Given the description of an element on the screen output the (x, y) to click on. 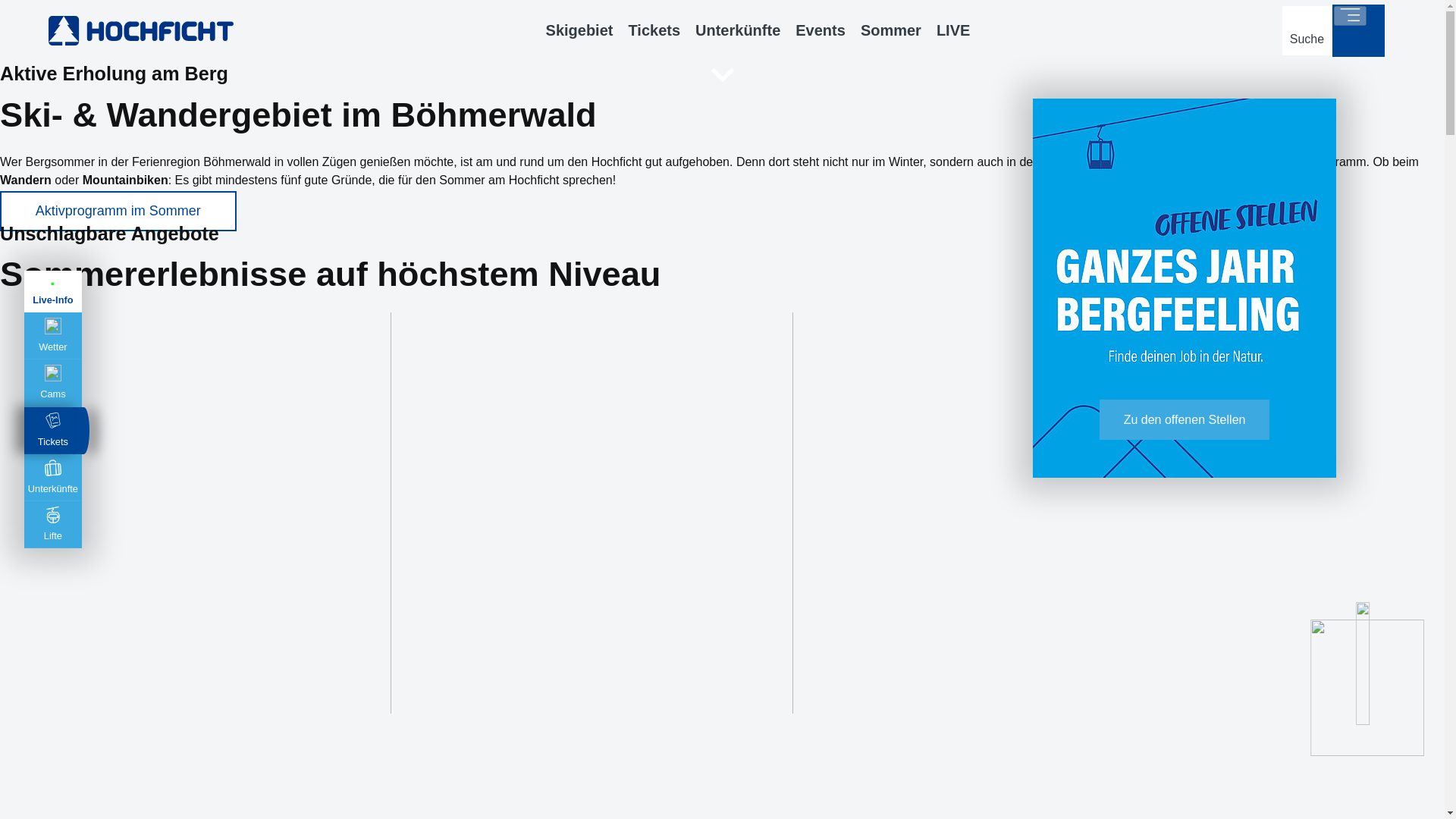
Zu den offenen Stellen (1184, 419)
Aktivprogramm im Sommer (117, 211)
Tickets (653, 30)
Skigebiet (579, 30)
Events (820, 30)
Sommer (890, 30)
Sommer (890, 30)
Suche (1307, 30)
Events (820, 30)
Skigebiet (579, 30)
Tickets (653, 30)
